Given the description of an element on the screen output the (x, y) to click on. 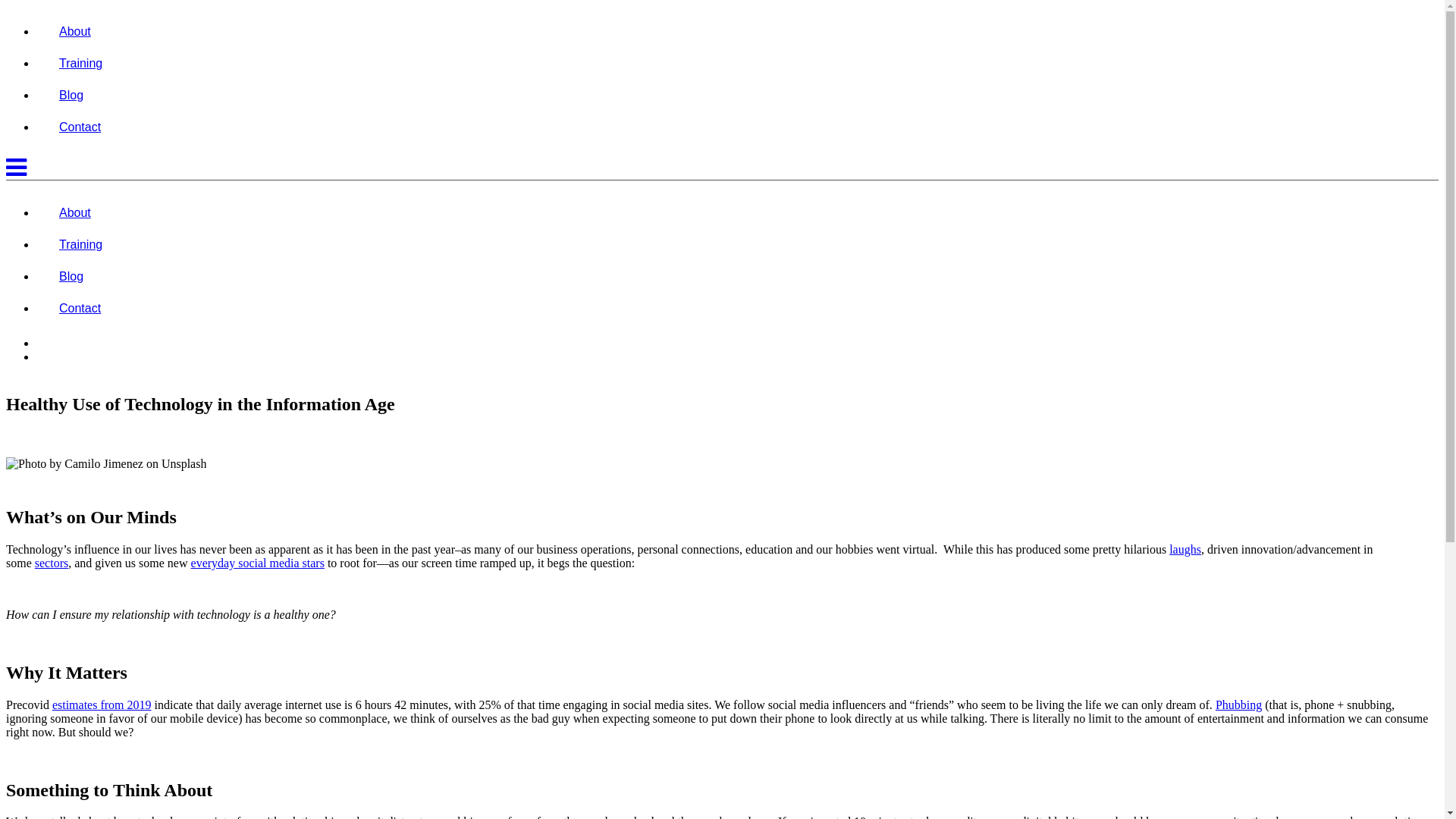
estimates from 2019 Element type: text (101, 704)
About Element type: text (75, 212)
everyday social media stars Element type: text (257, 562)
laughs Element type: text (1185, 548)
Training Element type: text (80, 62)
Contact Element type: text (79, 307)
Phubbing Element type: text (1238, 704)
Blog Element type: text (71, 94)
Training Element type: text (80, 244)
Contact Element type: text (79, 126)
About Element type: text (75, 31)
Blog Element type: text (71, 275)
sectors Element type: text (51, 562)
